Given the description of an element on the screen output the (x, y) to click on. 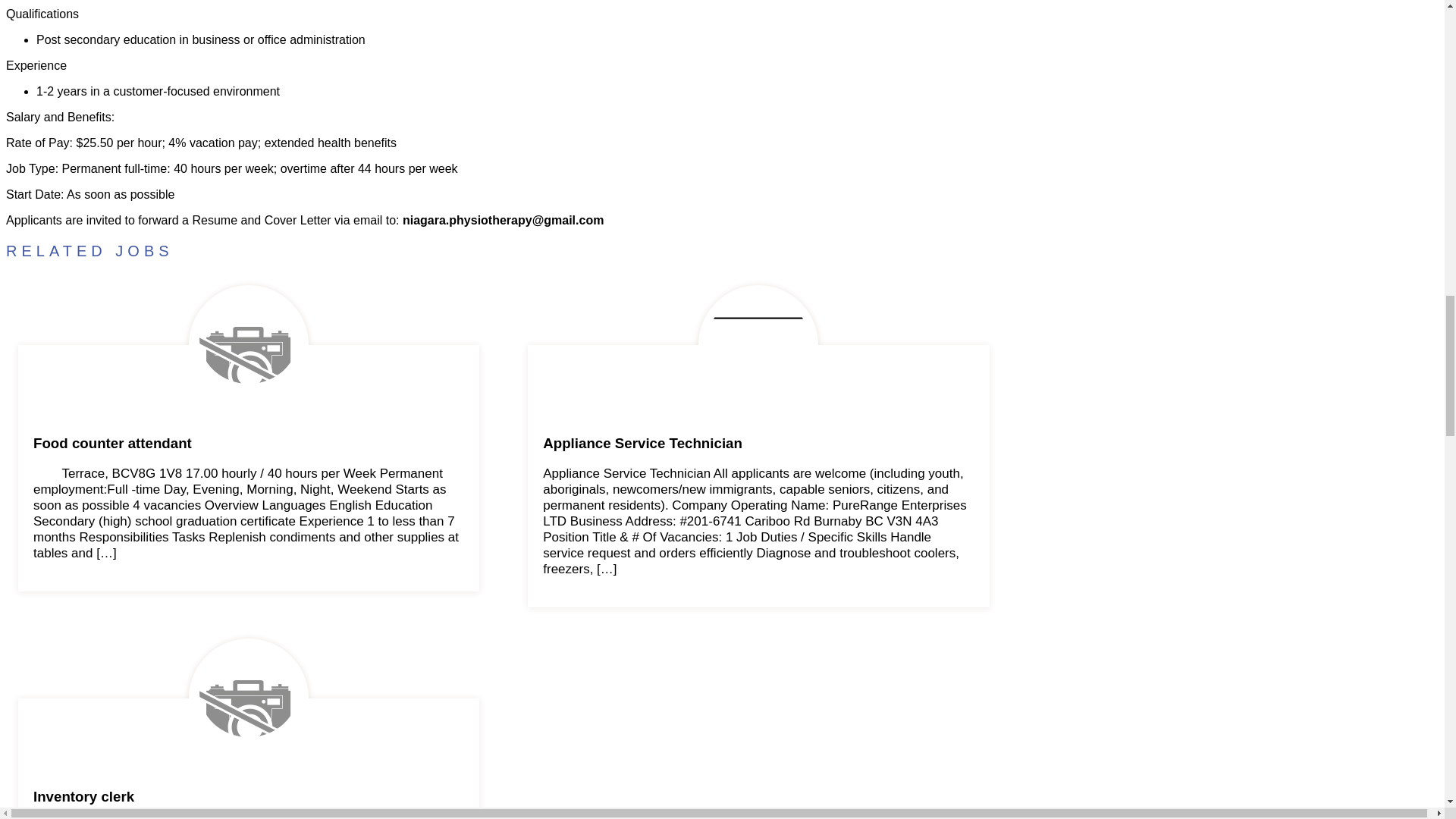
Food counter attendant (248, 443)
Appliance Service Technician (758, 443)
Inventory clerk (248, 796)
